Given the description of an element on the screen output the (x, y) to click on. 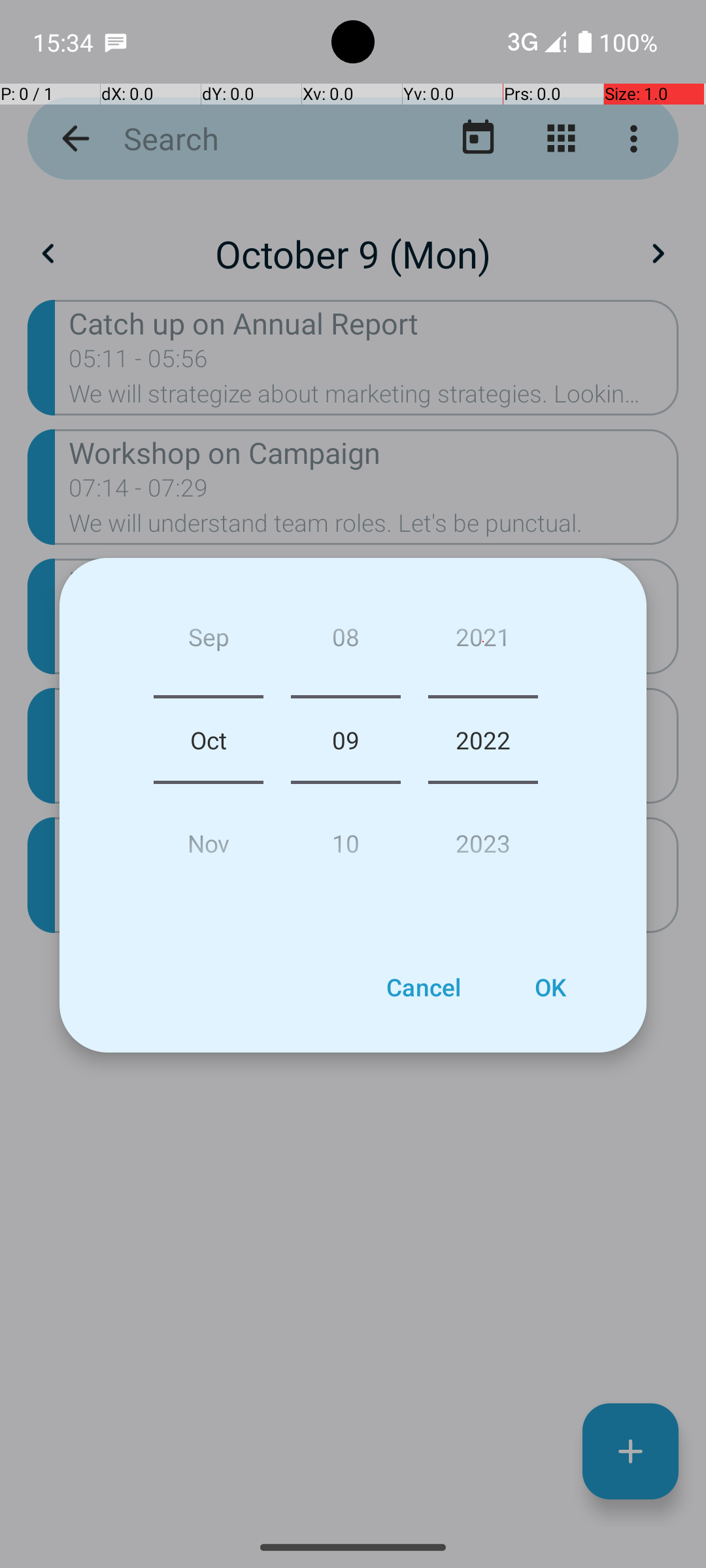
08 Element type: android.widget.Button (345, 641)
09 Element type: android.widget.EditText (345, 739)
2021 Element type: android.widget.Button (482, 641)
